Given the description of an element on the screen output the (x, y) to click on. 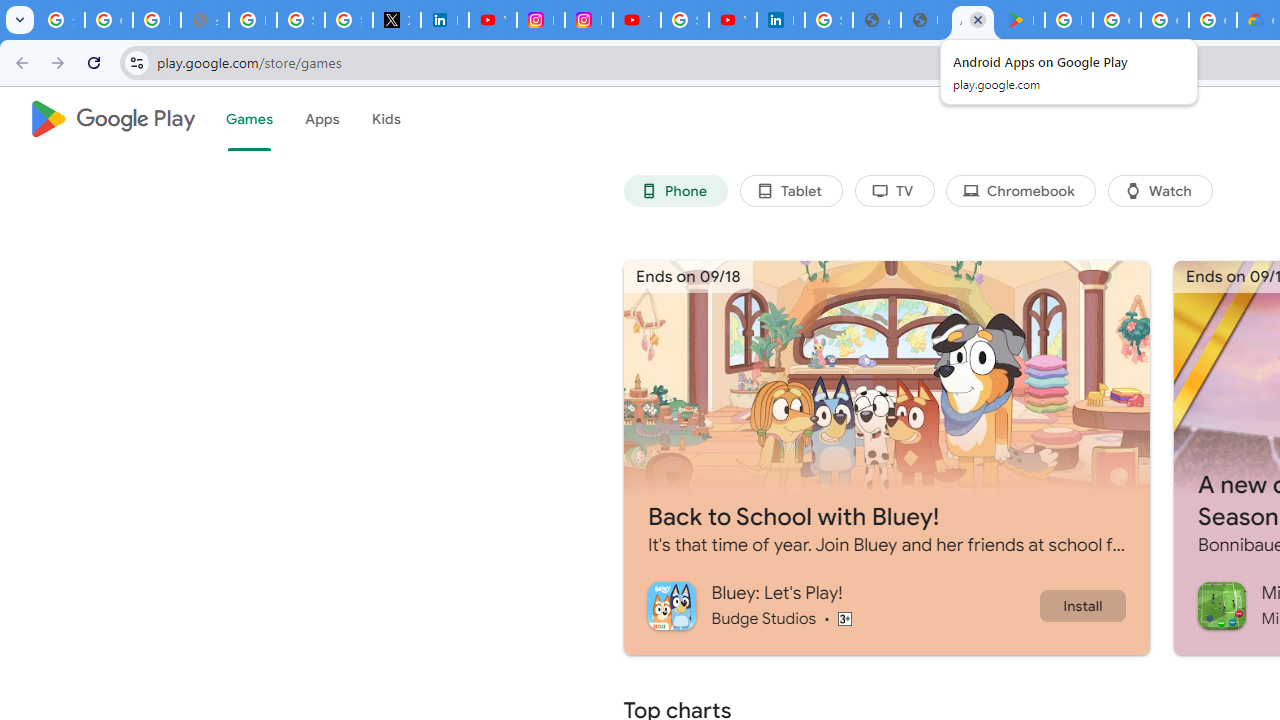
Tablet (790, 190)
google_privacy_policy_en.pdf (876, 20)
User Details (924, 20)
Sign in - Google Accounts (300, 20)
Google Workspace - Specific Terms (1212, 20)
Games (248, 119)
Watch (1160, 190)
Apps (321, 119)
Android Apps on Google Play (972, 20)
